Given the description of an element on the screen output the (x, y) to click on. 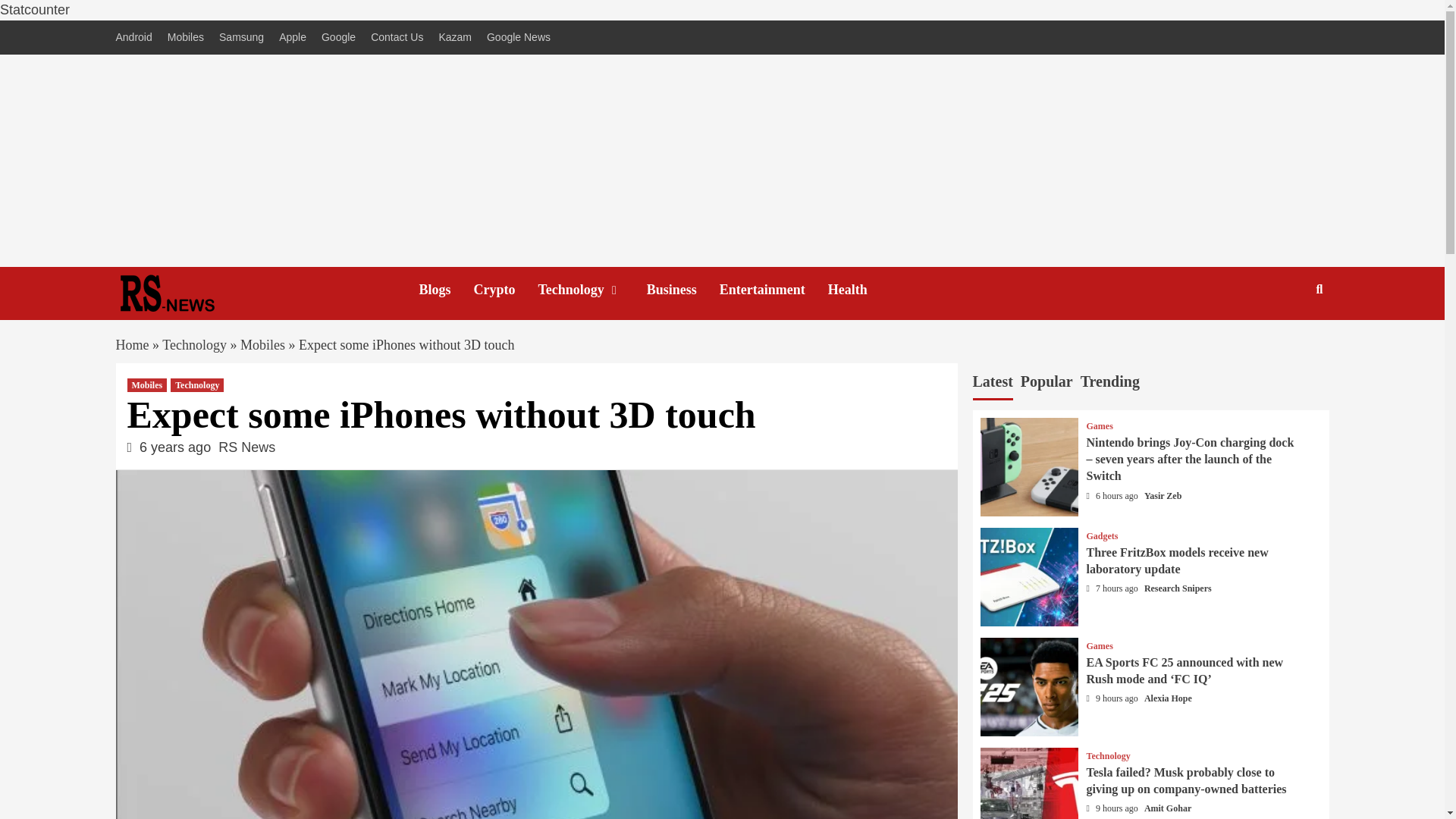
Home (131, 344)
Technology (592, 289)
Health (858, 289)
Kazam (454, 37)
Business (682, 289)
Statcounter (34, 9)
Apple (292, 37)
Android (136, 37)
Mobiles (262, 344)
Contact Us (396, 37)
Samsung (240, 37)
RS News (246, 447)
Blogs (446, 289)
Google (338, 37)
